Given the description of an element on the screen output the (x, y) to click on. 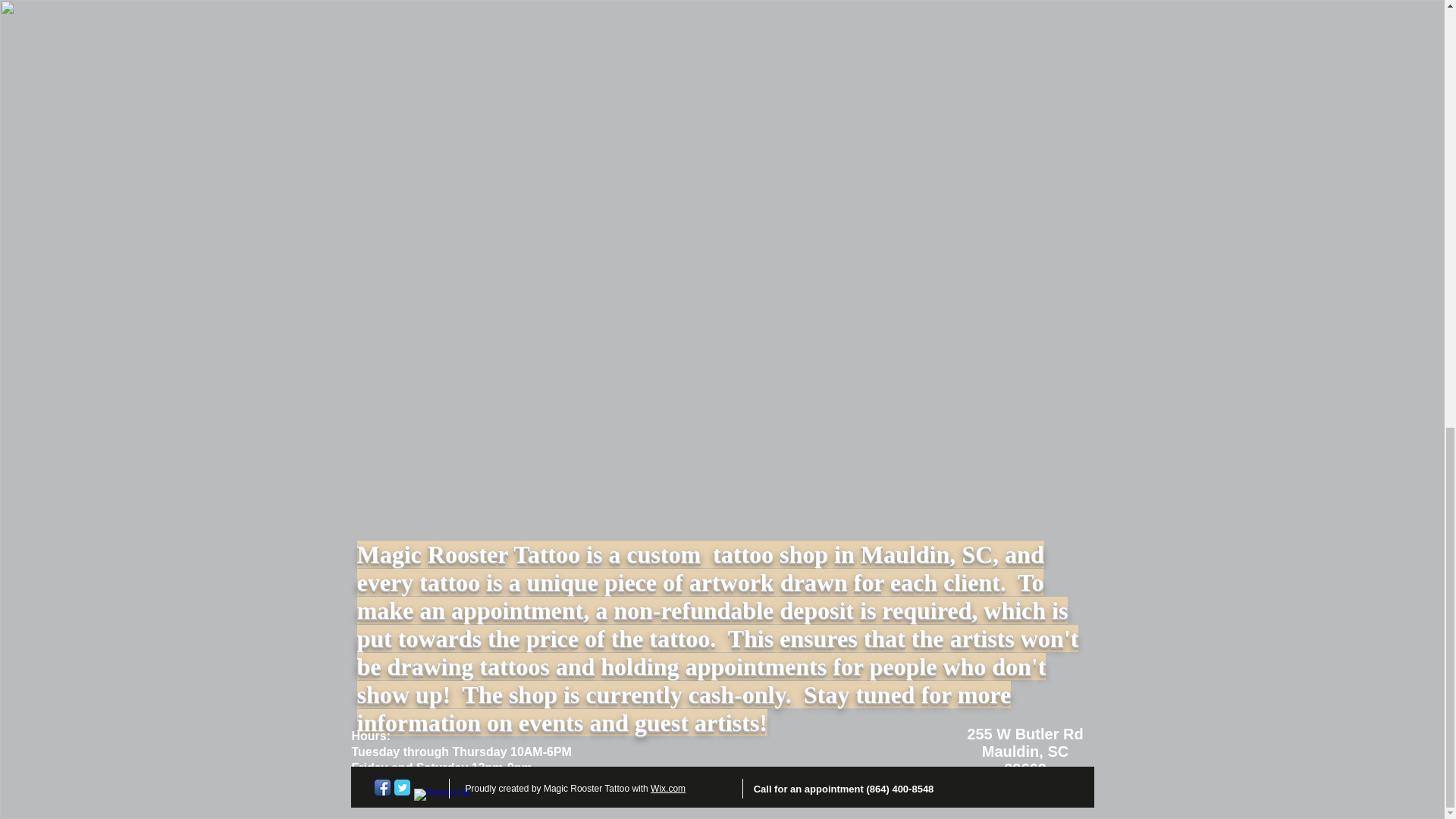
Wix.com (667, 787)
